Given the description of an element on the screen output the (x, y) to click on. 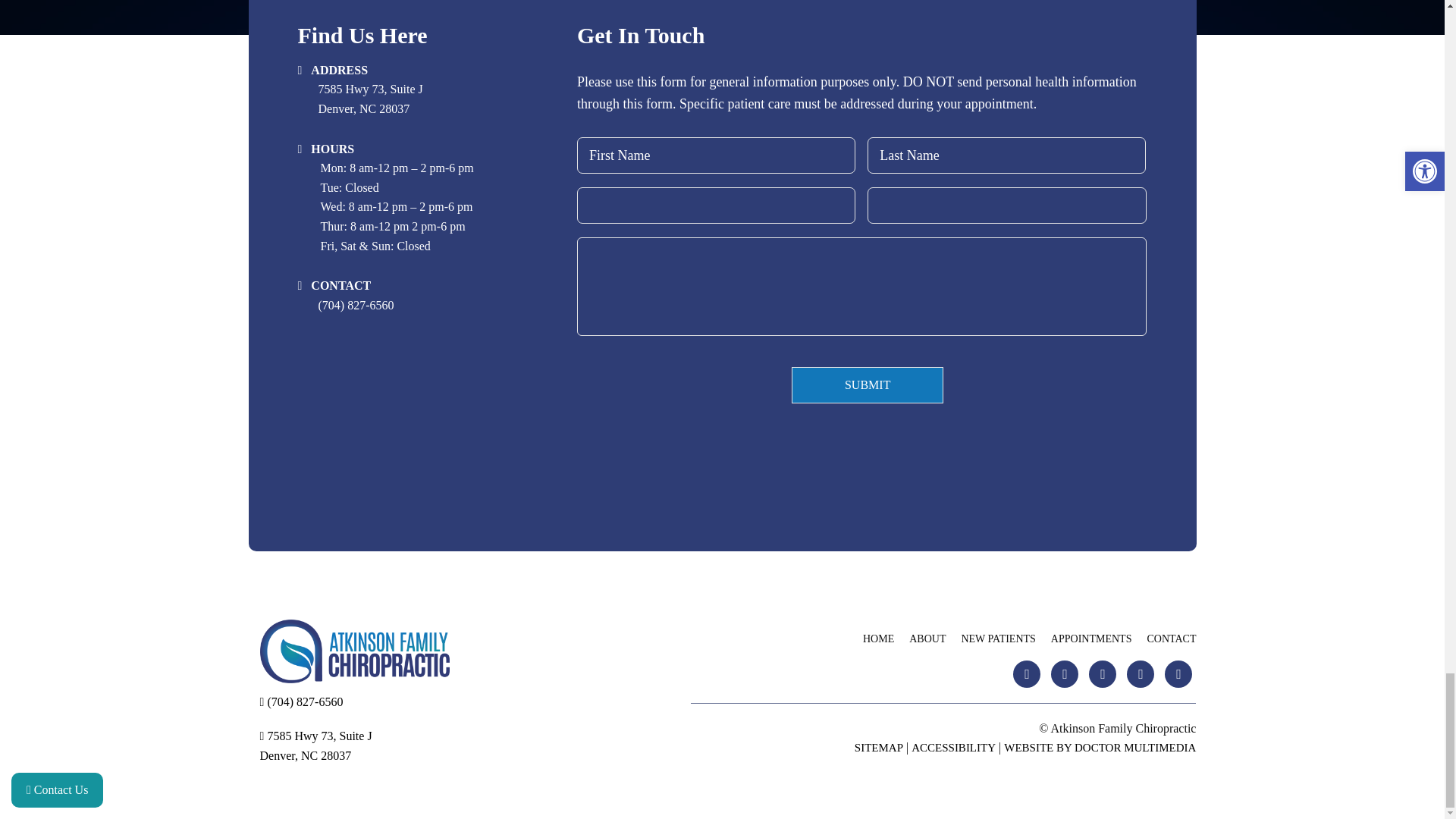
Submit (867, 384)
